Given the description of an element on the screen output the (x, y) to click on. 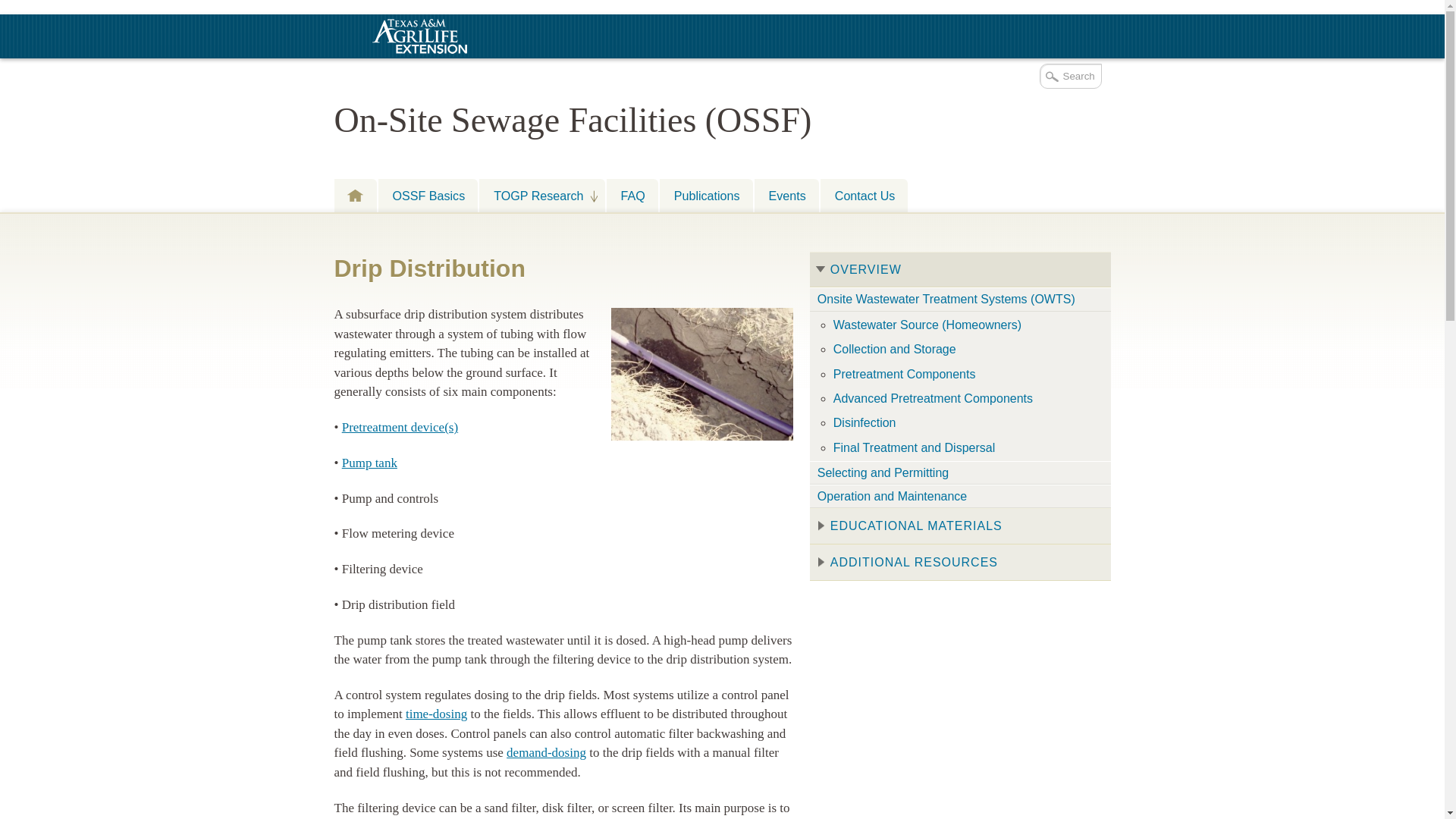
EDUCATIONAL MATERIALS (959, 525)
Collection and Storage (965, 349)
Advanced Pretreatment Components (965, 398)
home (354, 195)
Final Treatment and Dispersal (965, 447)
Home (354, 195)
OVERVIEW (959, 269)
Contact Us (864, 195)
Pretreatment Components (400, 427)
Search (1069, 75)
Go (13, 7)
time-dosing (436, 713)
OSSF Basics (427, 195)
drip (702, 373)
ADDITIONAL RESOURCES (959, 562)
